Given the description of an element on the screen output the (x, y) to click on. 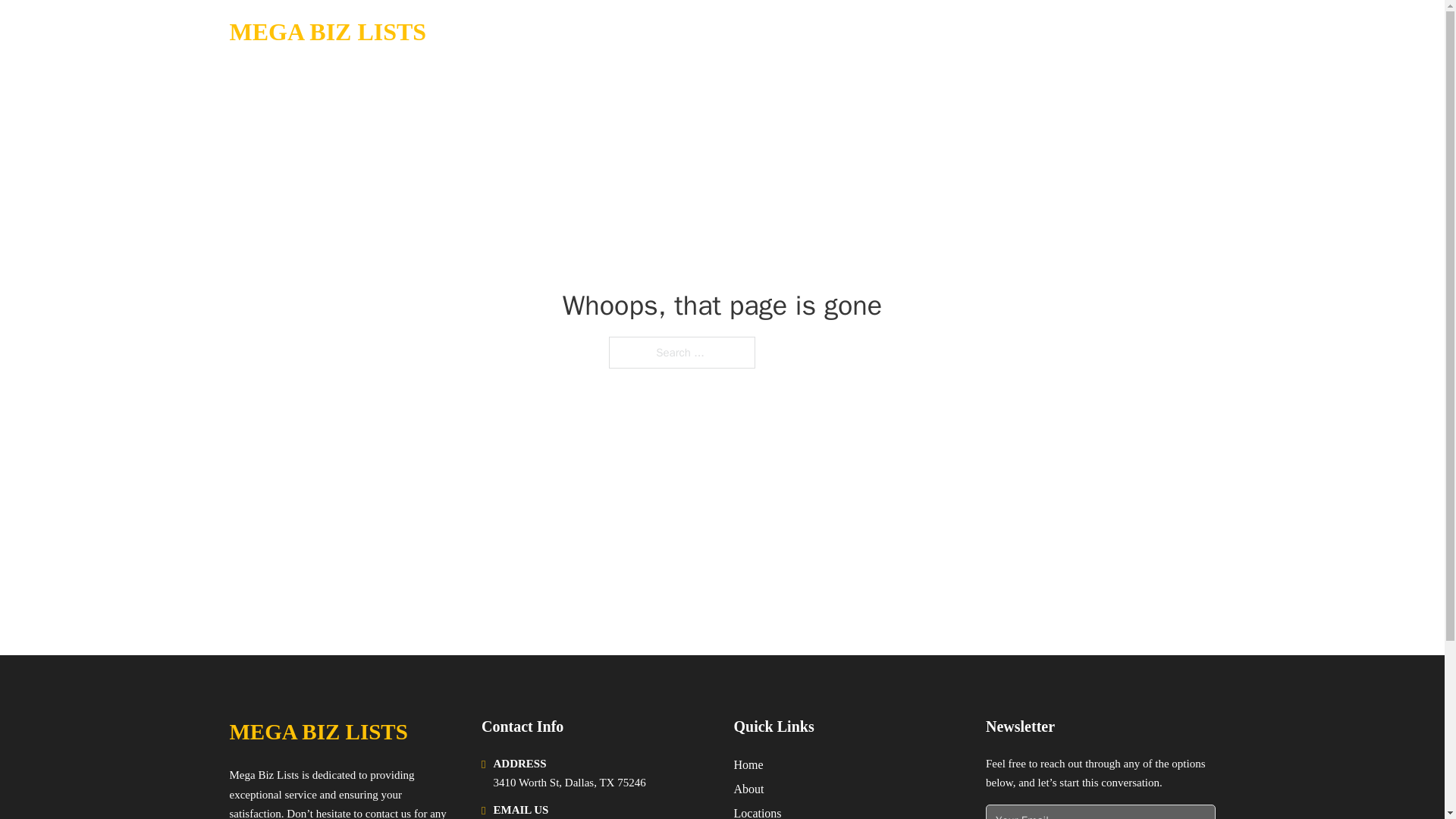
MEGA BIZ LISTS (327, 31)
MEGA BIZ LISTS (317, 732)
Locations (757, 811)
LOCATIONS (1098, 31)
About (748, 788)
HOME (1025, 31)
Home (747, 764)
